Given the description of an element on the screen output the (x, y) to click on. 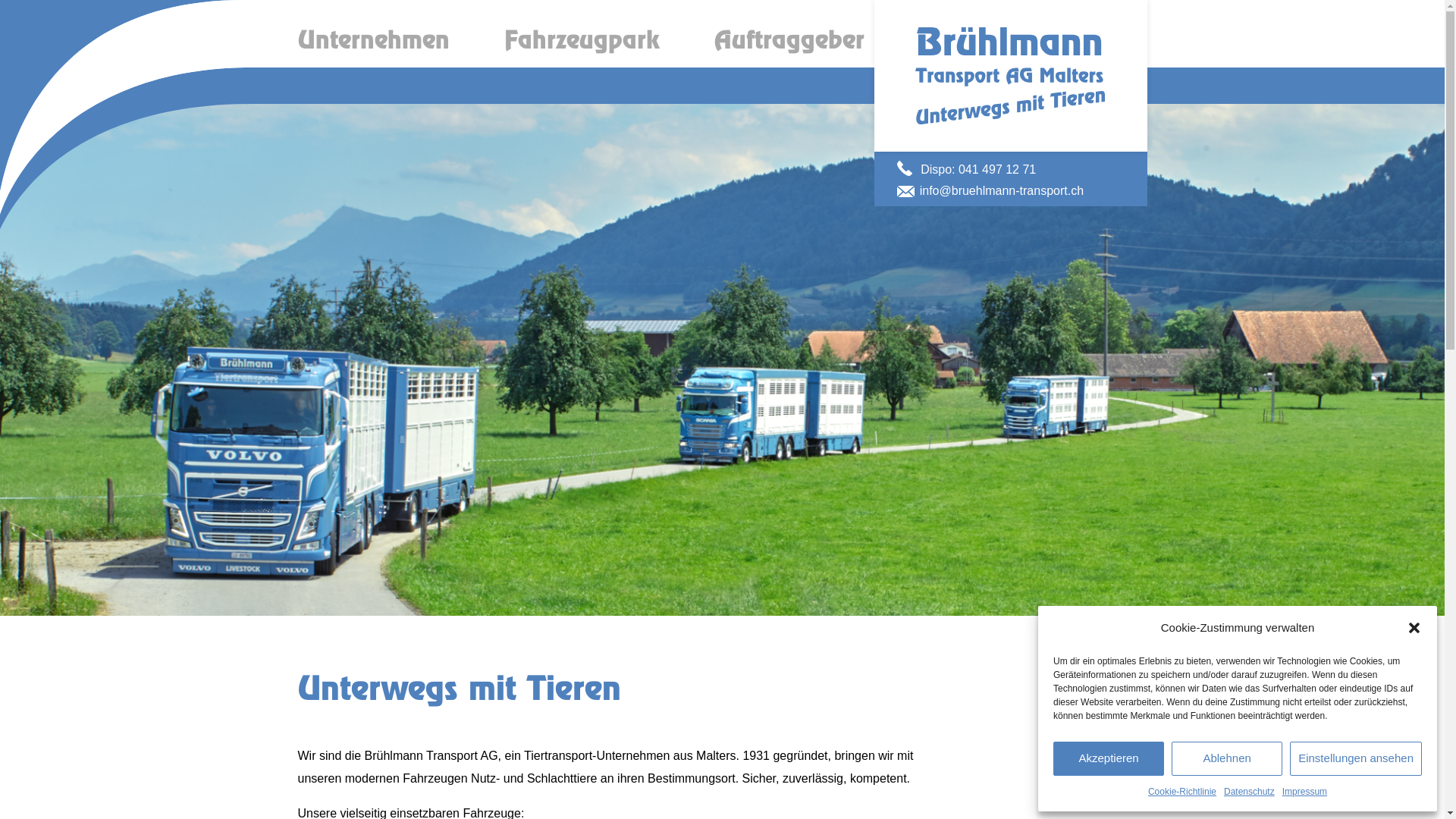
info@bruehlmann-transport.ch Element type: text (1001, 191)
Akzeptieren Element type: text (1108, 758)
Unternehmen Element type: text (372, 40)
Impressum Element type: text (1304, 791)
Ablehnen Element type: text (1226, 758)
Cookie-Richtlinie Element type: text (1182, 791)
Dispo: 041 497 12 71 Element type: text (977, 169)
Datenschutz Element type: text (1248, 791)
Fahrzeugpark Element type: text (580, 40)
Auftraggeber Element type: text (789, 40)
Einstellungen ansehen Element type: text (1355, 758)
